Given the description of an element on the screen output the (x, y) to click on. 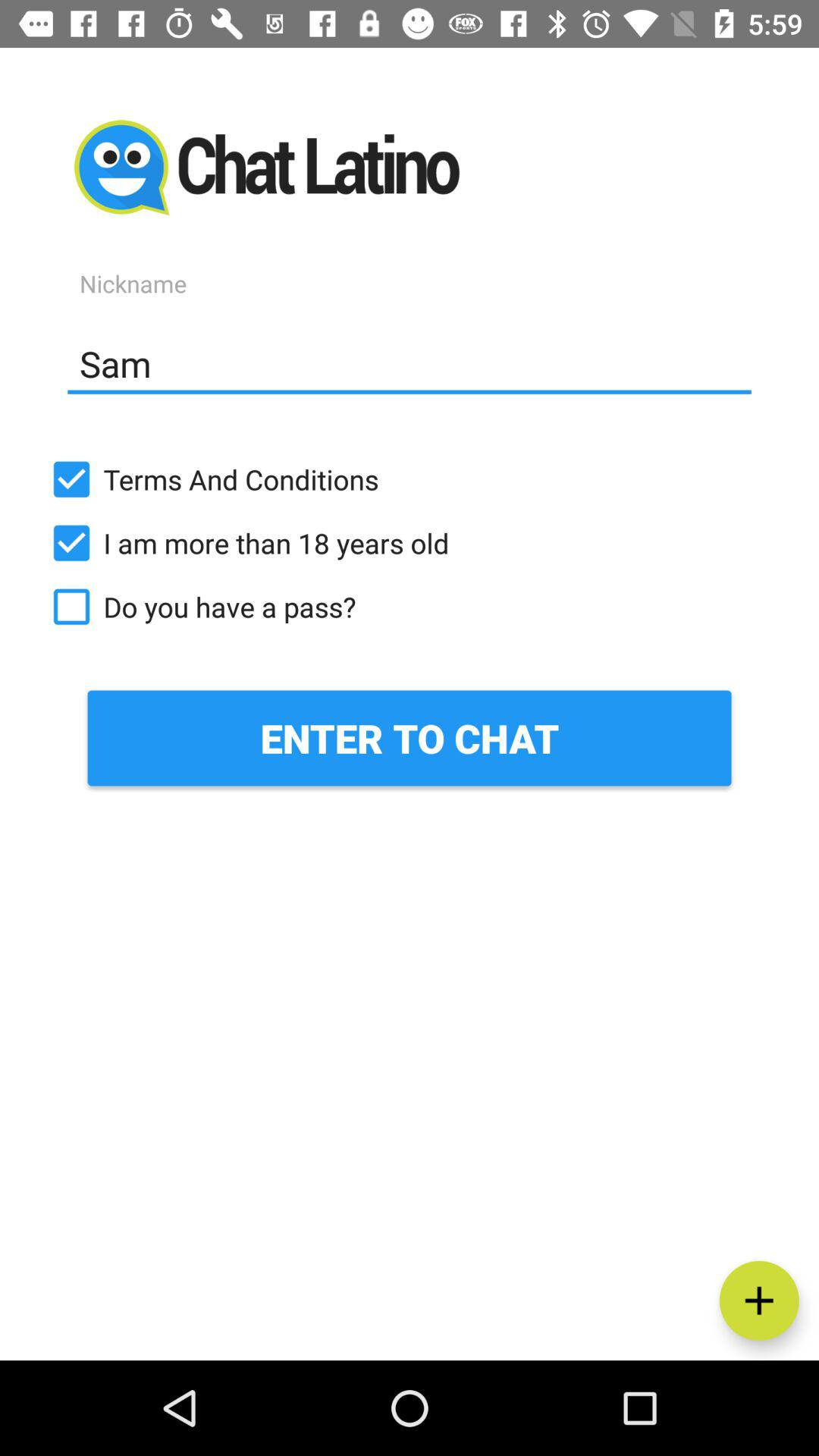
launch the icon below i am more icon (409, 606)
